Given the description of an element on the screen output the (x, y) to click on. 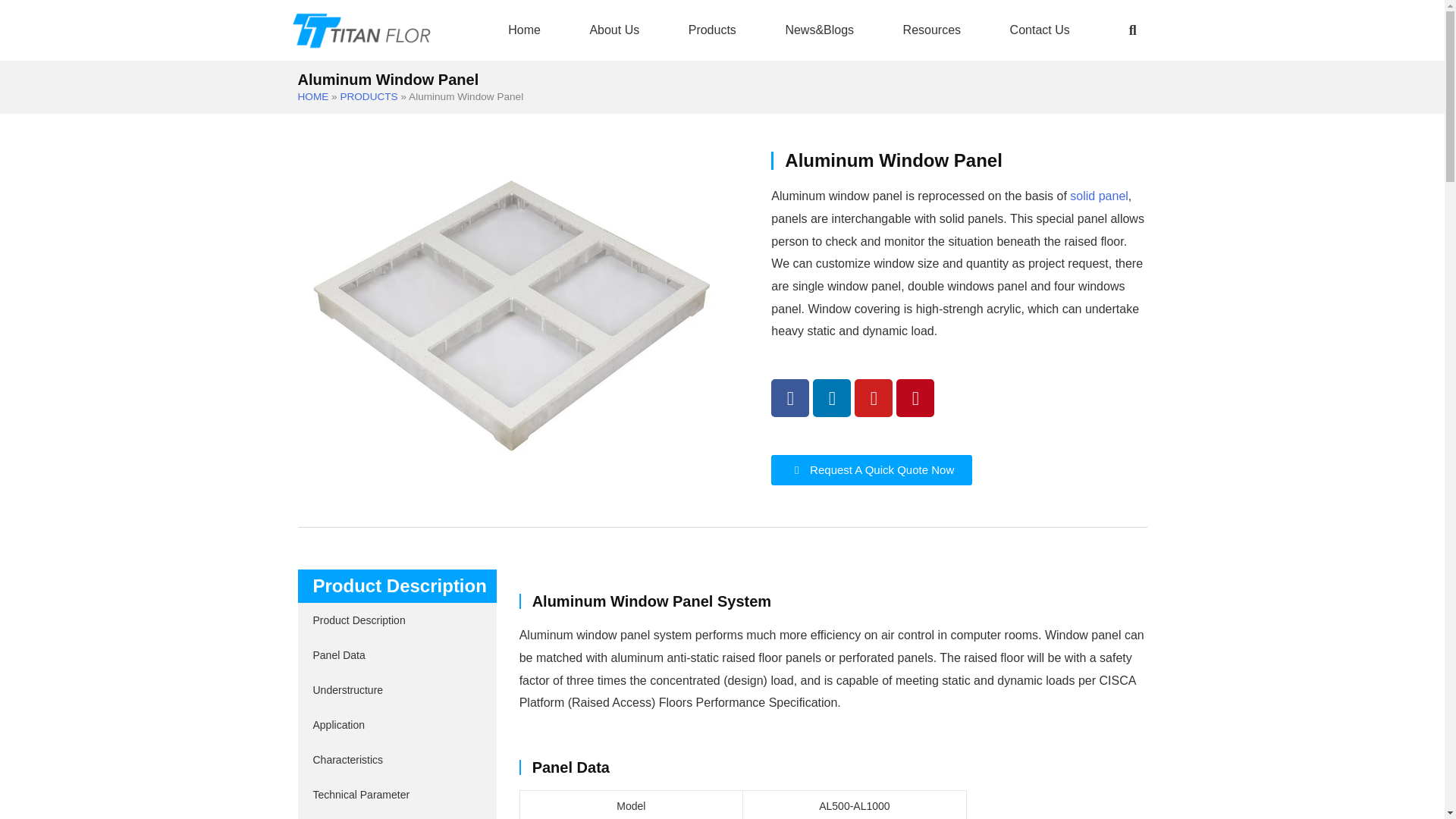
About Us (613, 30)
Contact Us (1039, 30)
HOME (313, 96)
Resources (931, 30)
Products (711, 30)
PRODUCTS (368, 96)
Home (523, 30)
